Given the description of an element on the screen output the (x, y) to click on. 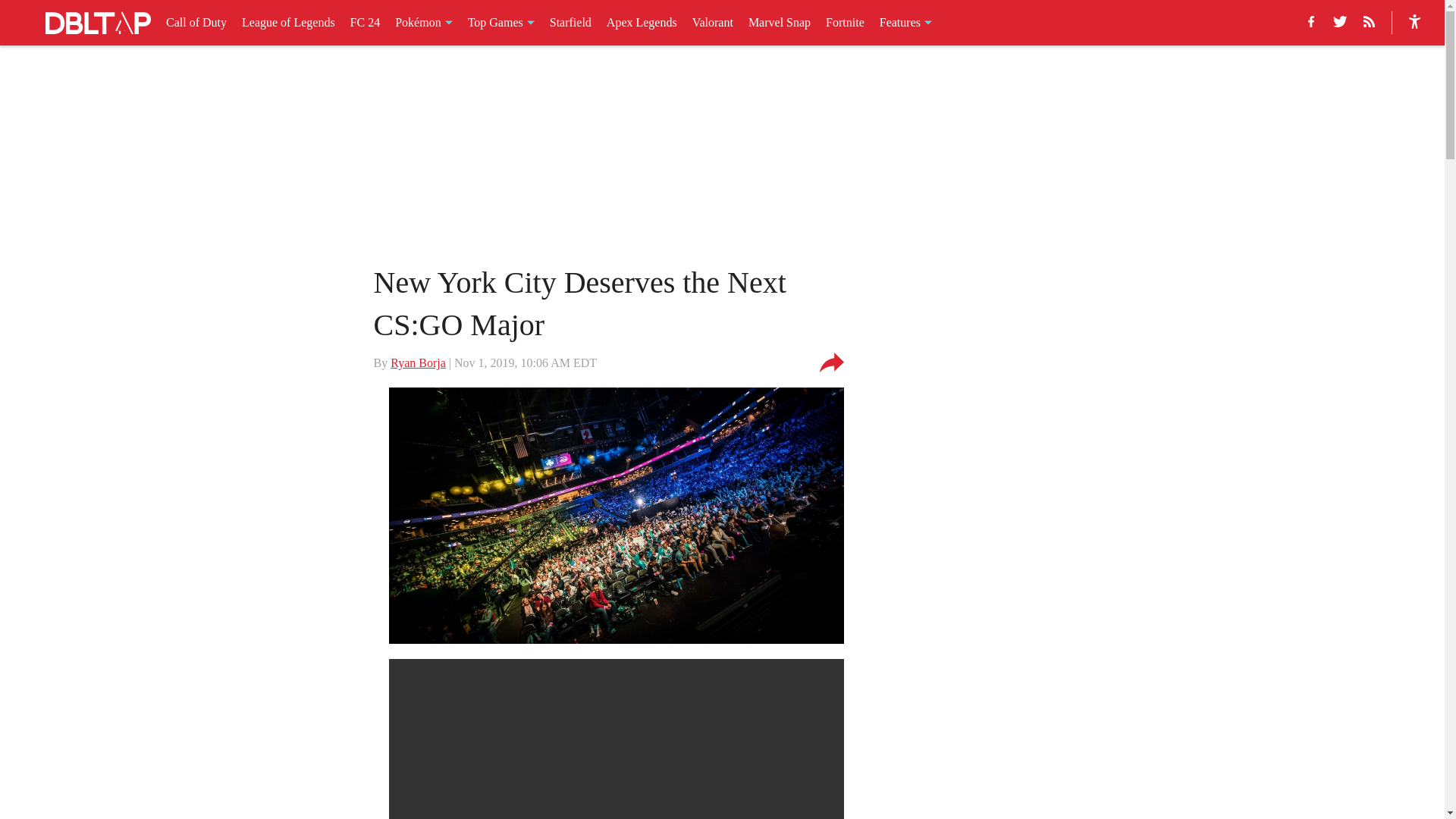
Valorant (713, 22)
Features (905, 22)
Apex Legends (642, 22)
Ryan Borja (417, 362)
FC 24 (365, 22)
Call of Duty (196, 22)
Starfield (570, 22)
Fortnite (844, 22)
Top Games (500, 22)
Marvel Snap (779, 22)
League of Legends (287, 22)
